Given the description of an element on the screen output the (x, y) to click on. 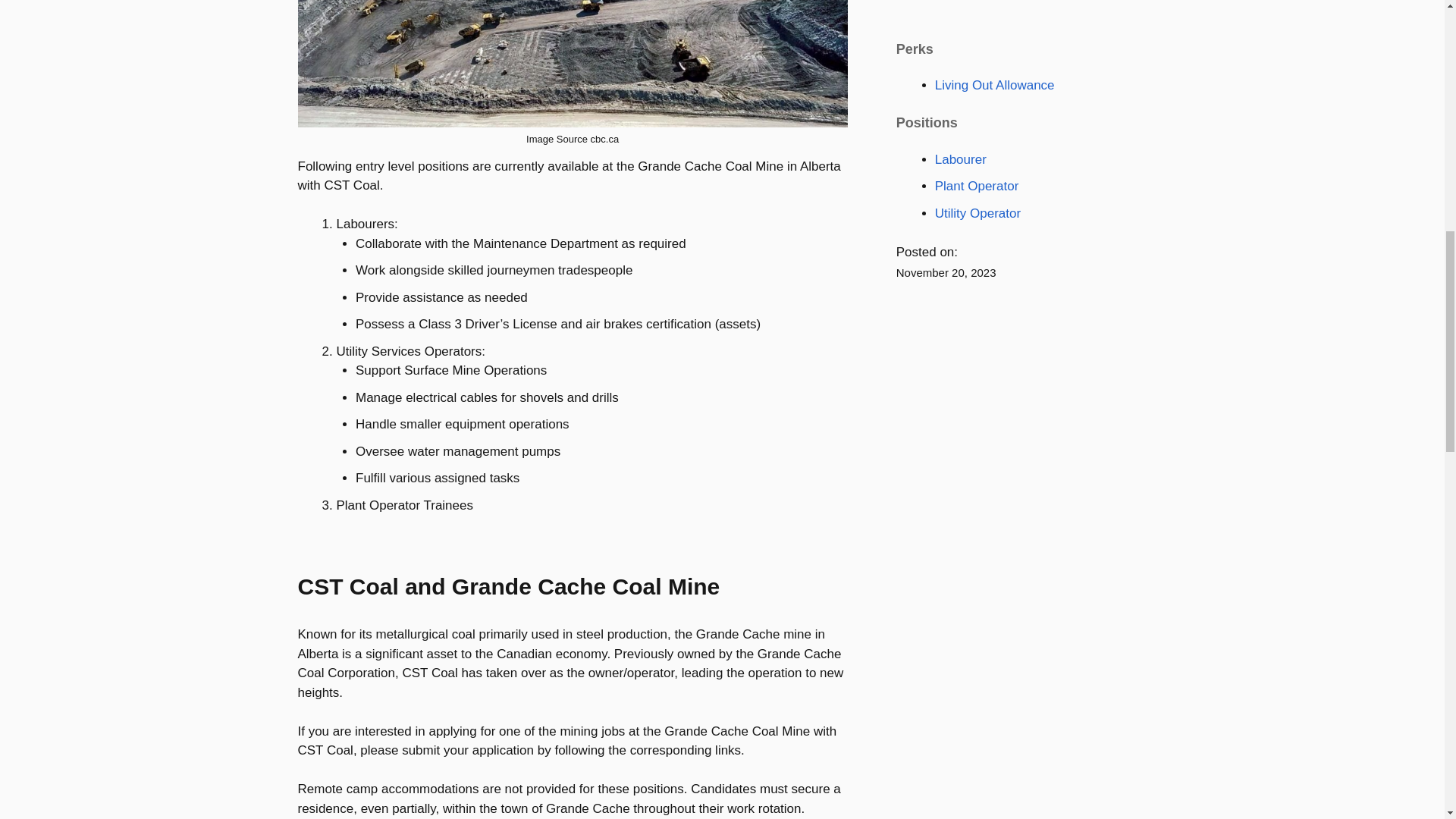
Living Out Allowance (994, 84)
Advertisement (1010, 5)
Labourer (960, 158)
Utility Operator (977, 213)
Plant Operator (976, 186)
